Given the description of an element on the screen output the (x, y) to click on. 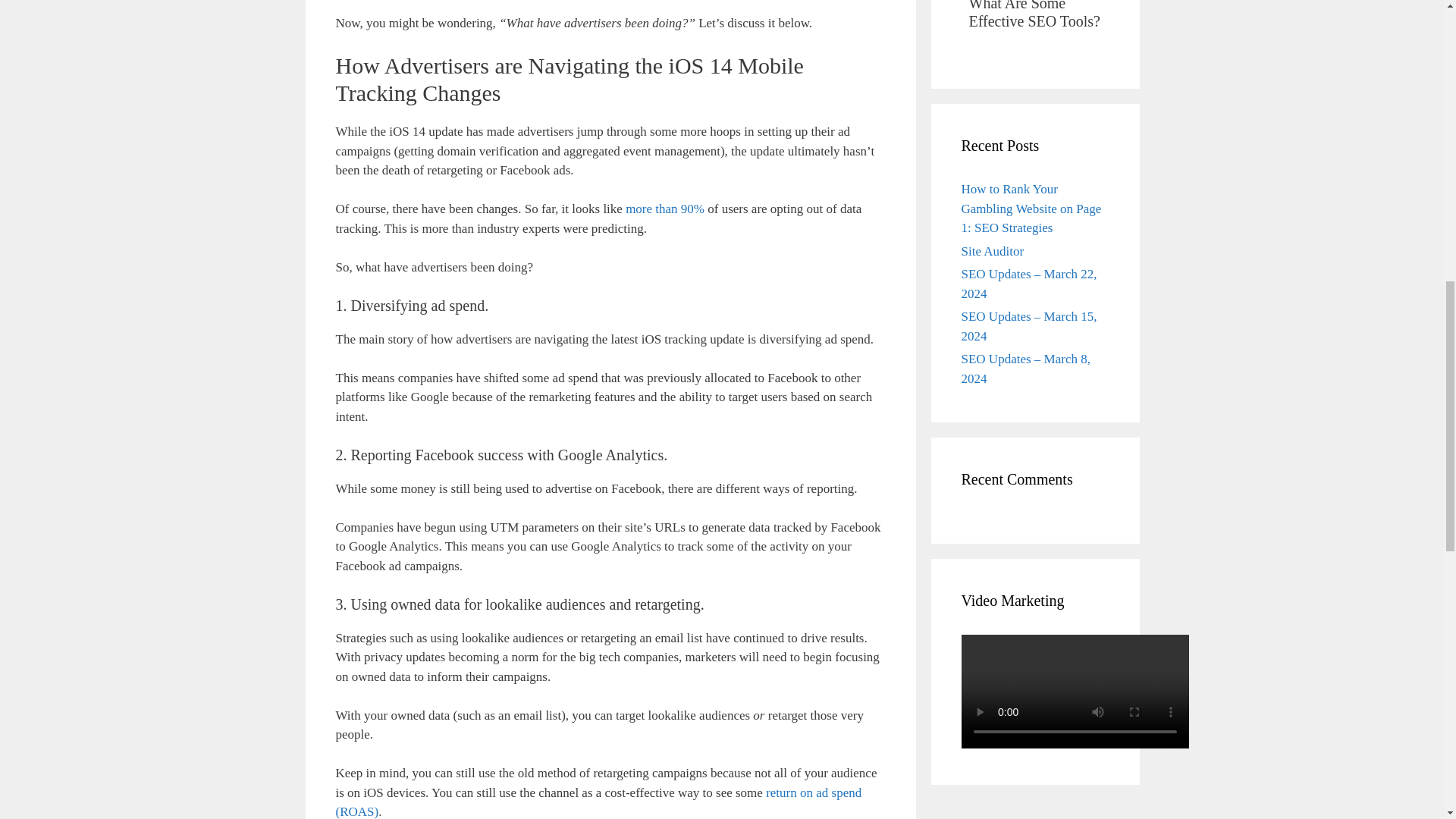
How to Rank Your Gambling Website on Page 1: SEO Strategies (1031, 208)
Site Auditor (992, 251)
